Given the description of an element on the screen output the (x, y) to click on. 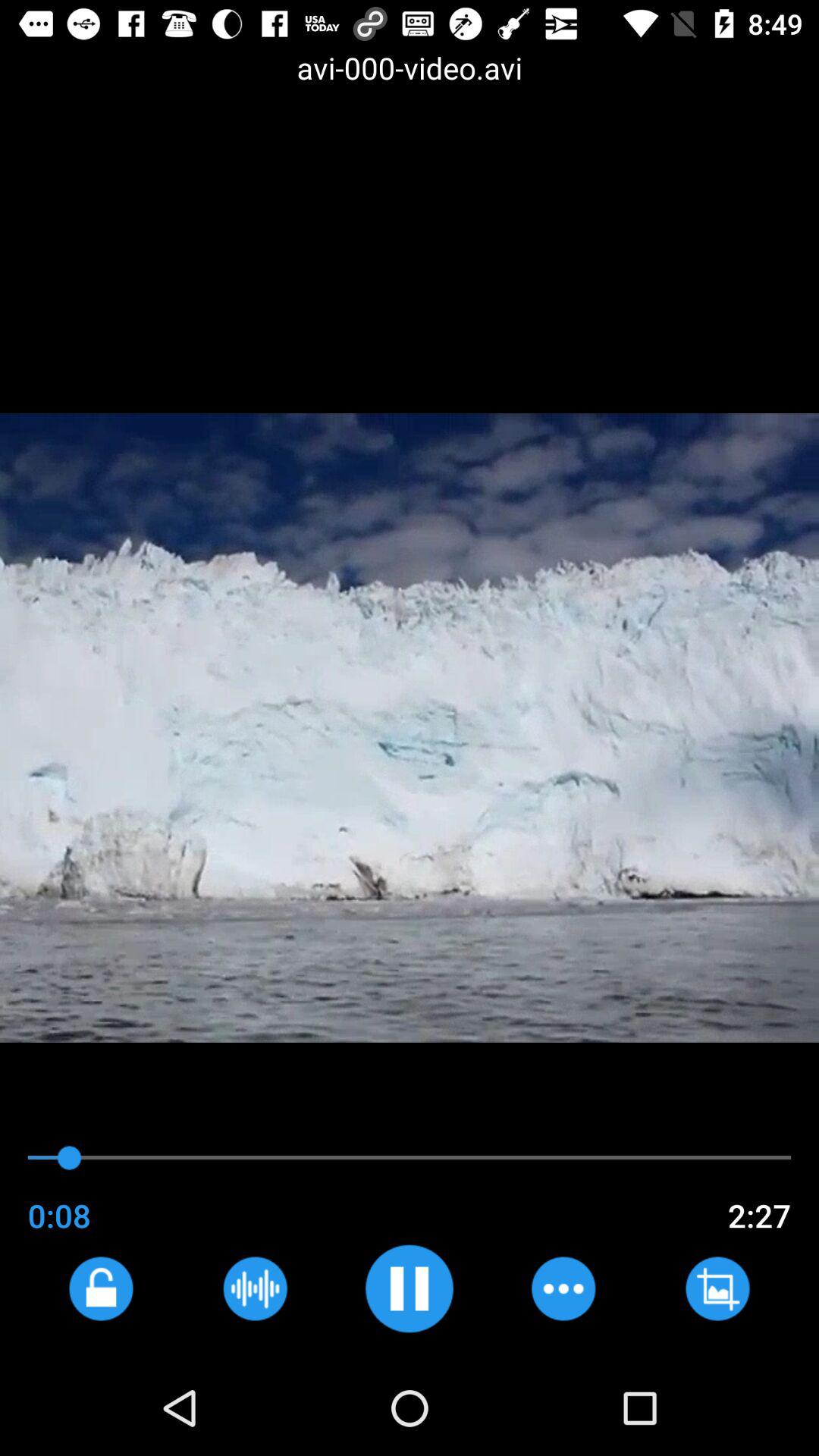
sound (409, 1288)
